Given the description of an element on the screen output the (x, y) to click on. 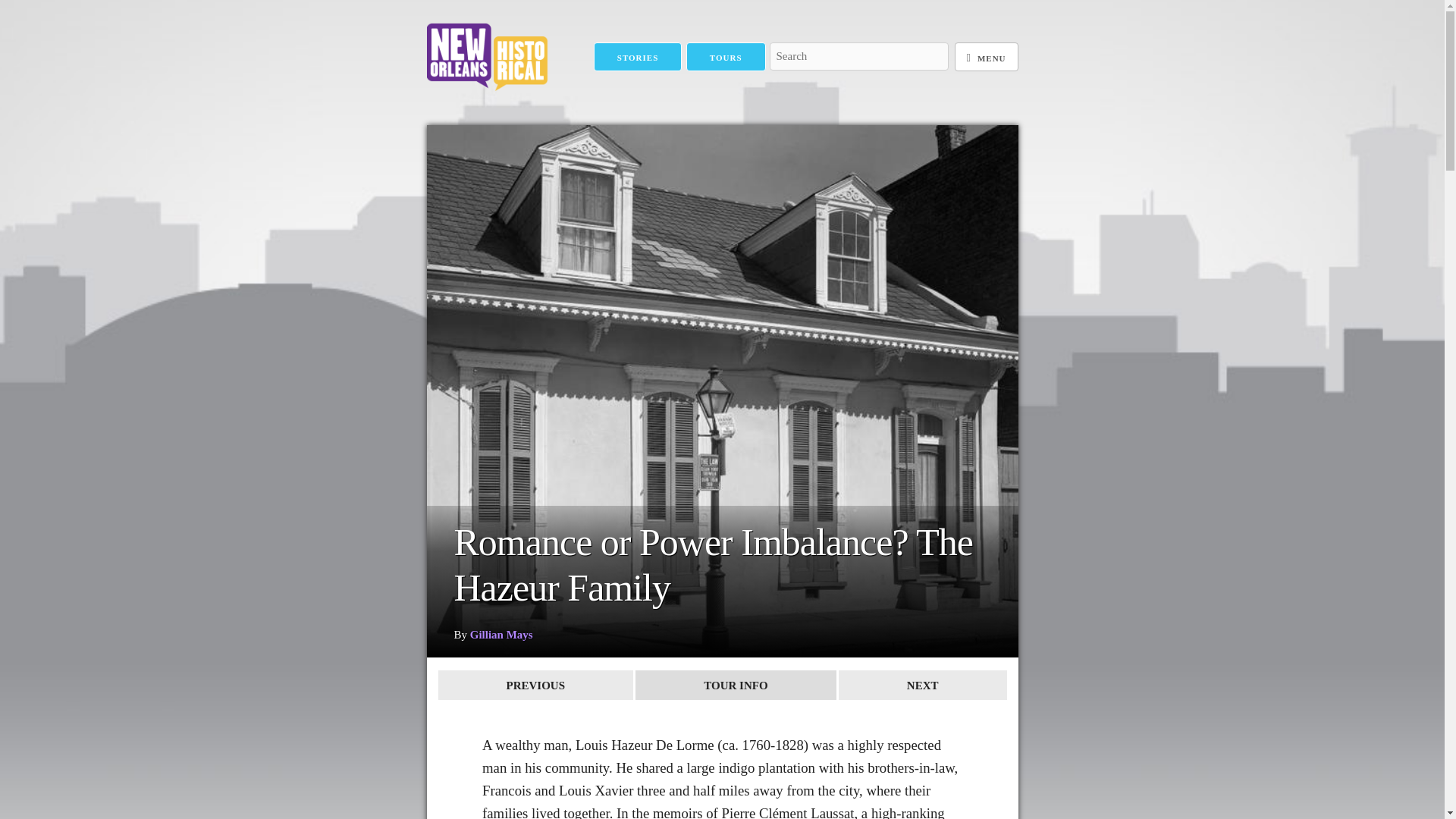
TOUR INFO (734, 685)
Submit (791, 84)
PREVIOUS (535, 685)
Gillian Mays (501, 634)
Next stop on Tour (922, 685)
Menu (986, 57)
Submit (791, 84)
NEXT (922, 685)
STORIES (638, 57)
Previous stop on Tour (535, 685)
TOURS (725, 57)
